Given the description of an element on the screen output the (x, y) to click on. 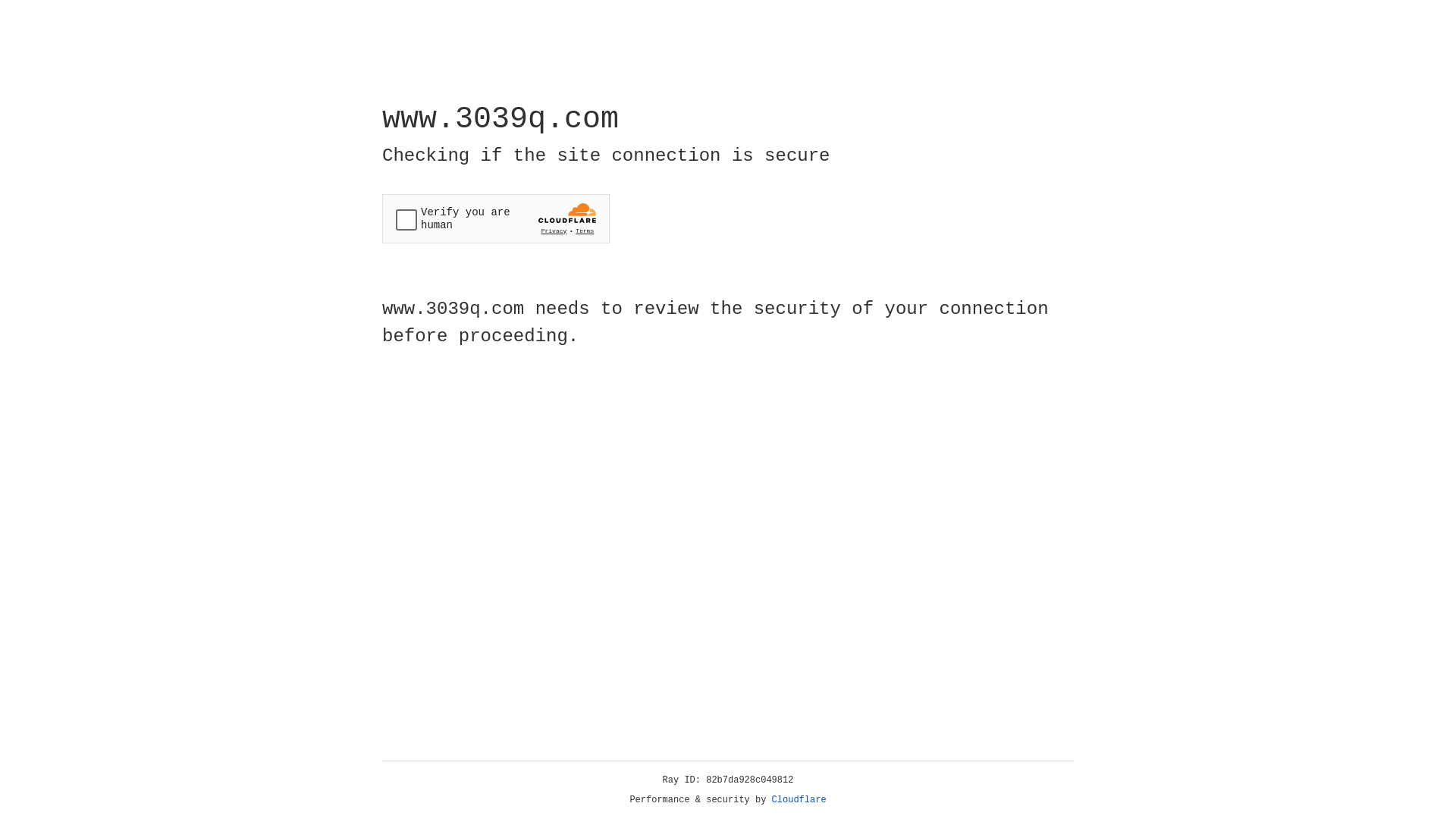
Widget containing a Cloudflare security challenge Element type: hover (495, 218)
Cloudflare Element type: text (798, 799)
